Given the description of an element on the screen output the (x, y) to click on. 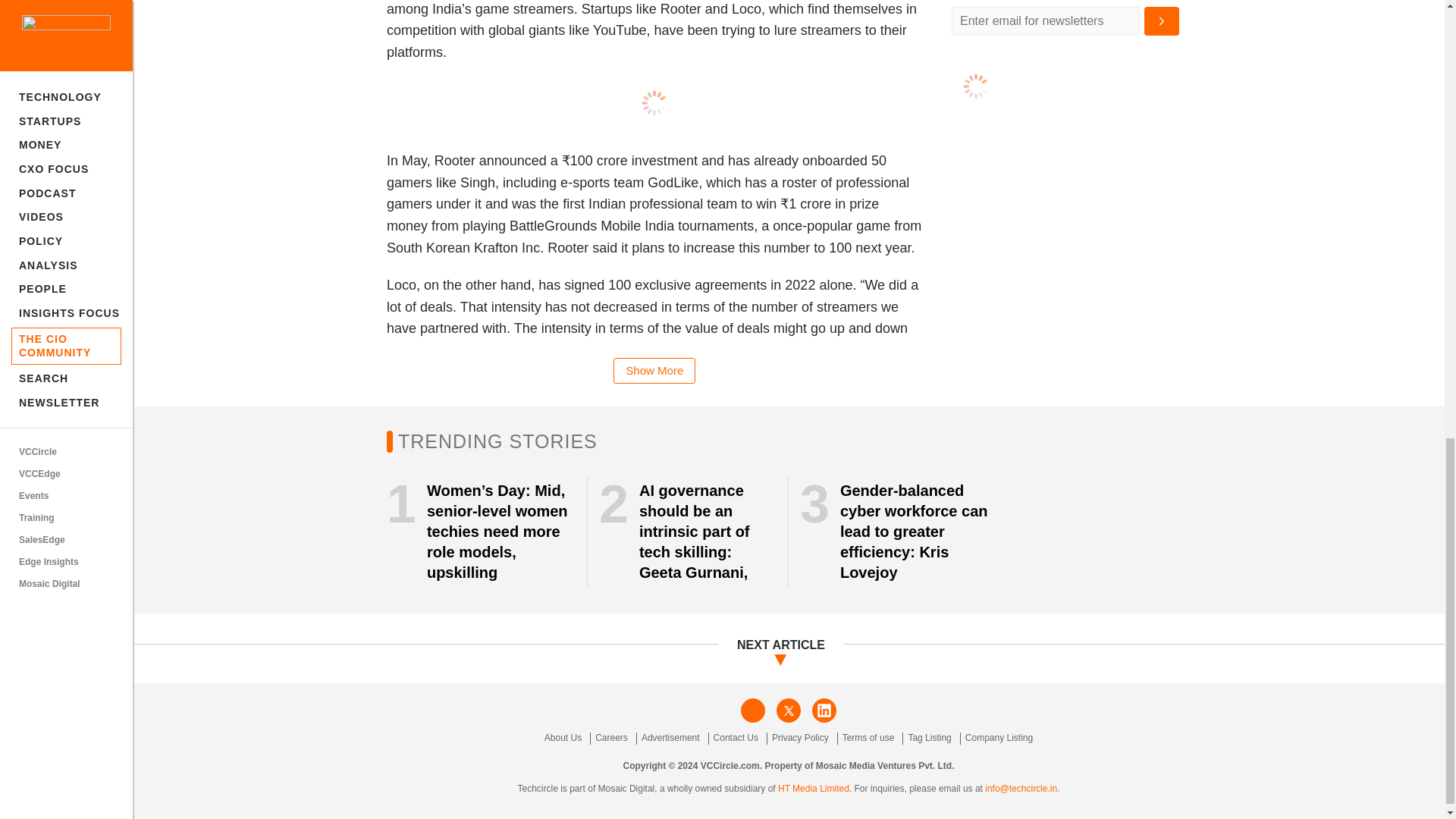
Submit (1161, 21)
Facebook (753, 710)
Twitter (788, 710)
Linkedin (823, 710)
